Given the description of an element on the screen output the (x, y) to click on. 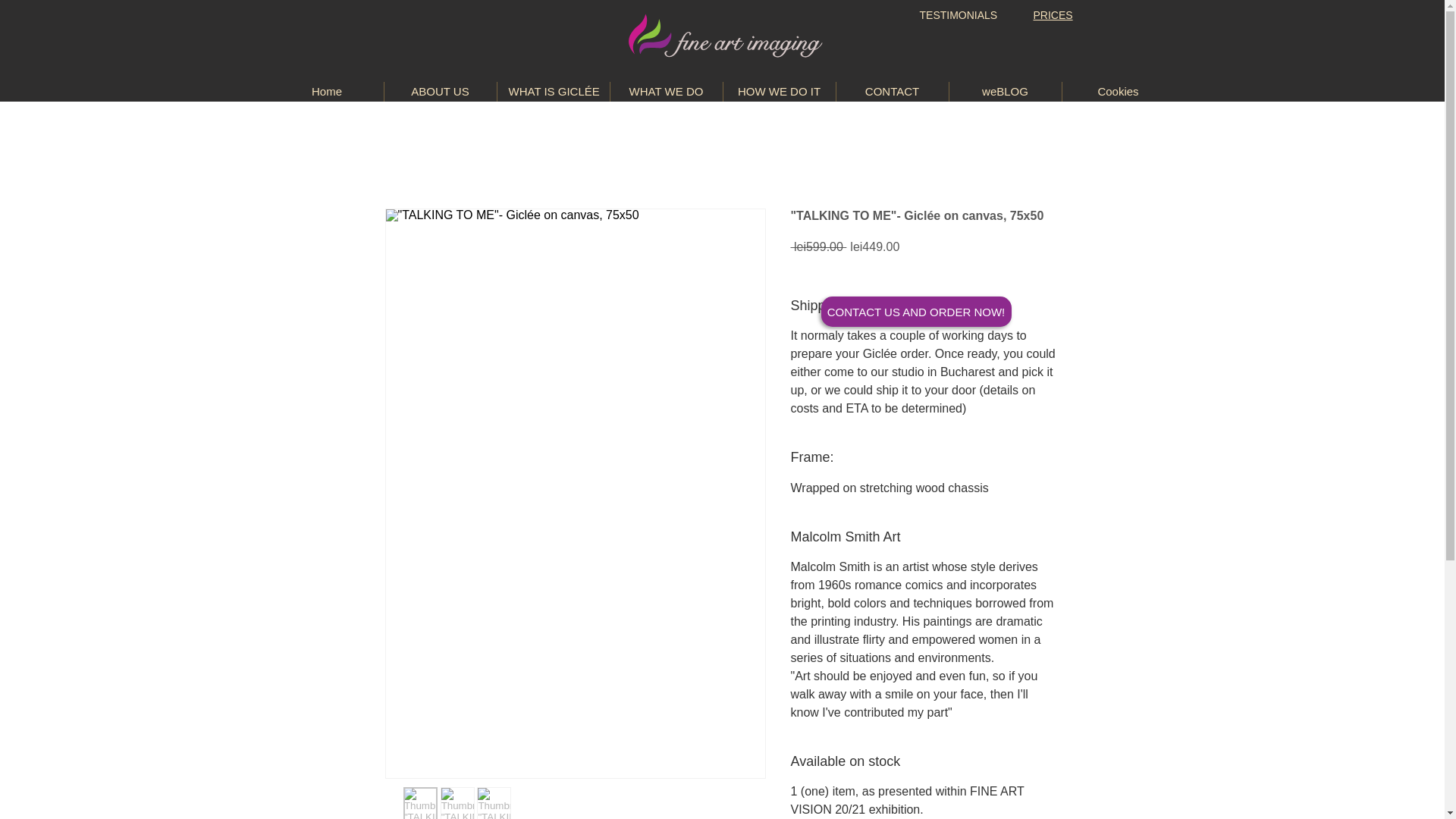
HOW WE DO IT (779, 91)
CONTACT (891, 91)
weBLOG (1005, 91)
Cookies (1117, 91)
Home (325, 91)
ABOUT US (440, 91)
PRICES (1051, 15)
CONTACT US AND ORDER NOW! (915, 311)
TESTIMONIALS (957, 15)
WHAT WE DO (666, 91)
